Given the description of an element on the screen output the (x, y) to click on. 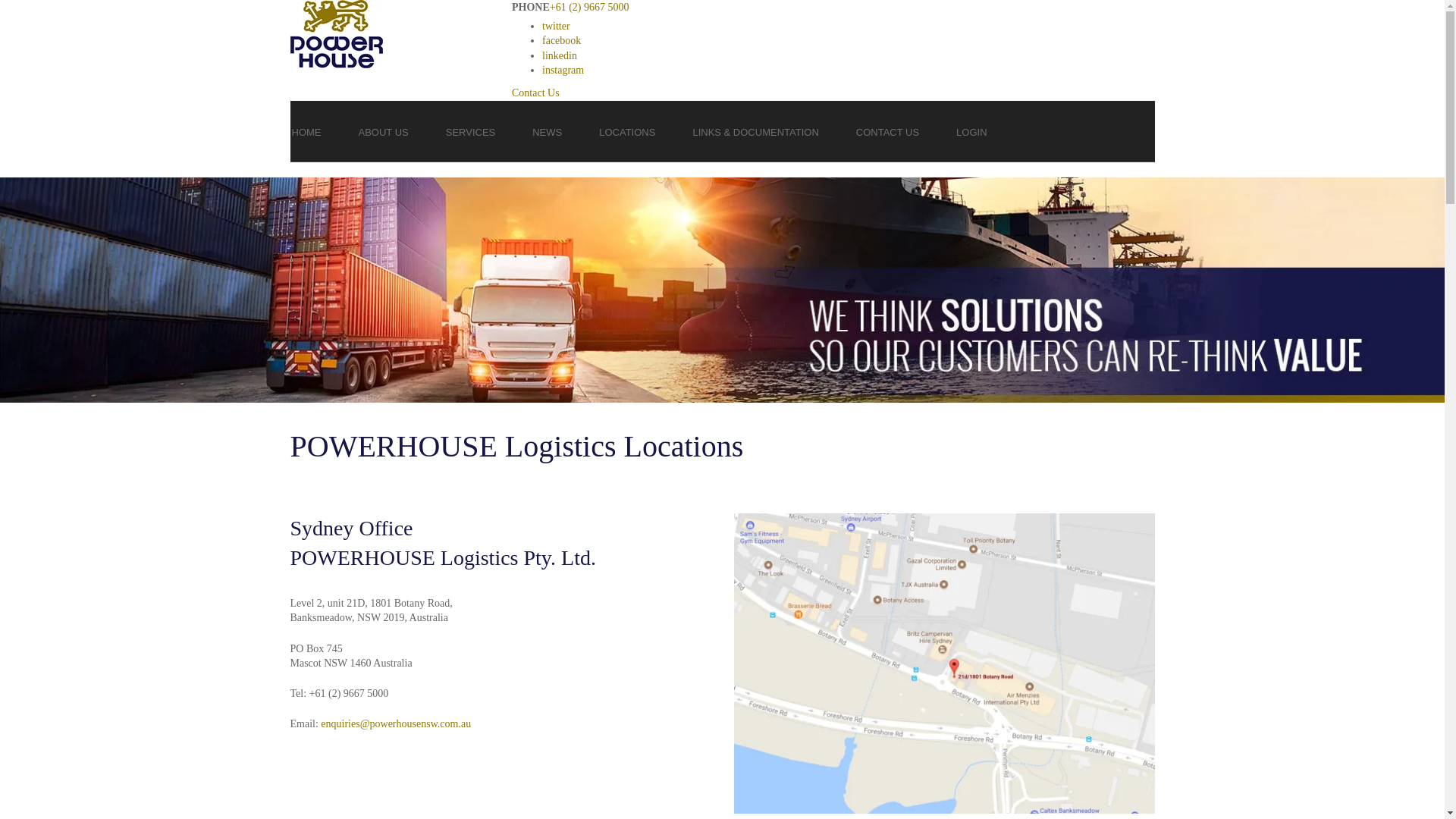
LOCATIONS Element type: text (626, 130)
HOME Element type: text (305, 130)
ABOUT US Element type: text (382, 130)
instagram Element type: text (562, 69)
linkedin Element type: text (559, 55)
+61 (2) 9667 5000 Element type: text (589, 6)
LINKS & DOCUMENTATION Element type: text (754, 130)
CONTACT US Element type: text (887, 130)
facebook Element type: text (561, 40)
SERVICES Element type: text (470, 130)
Powerhouse Logistics Element type: hover (722, 290)
POWERHOUSE SYDNEY Element type: hover (944, 663)
Contact Us Element type: text (535, 92)
enquiries@powerhousensw.com.au Element type: text (395, 723)
twitter Element type: text (556, 25)
NEWS Element type: text (546, 130)
LOGIN Element type: text (971, 130)
